Given the description of an element on the screen output the (x, y) to click on. 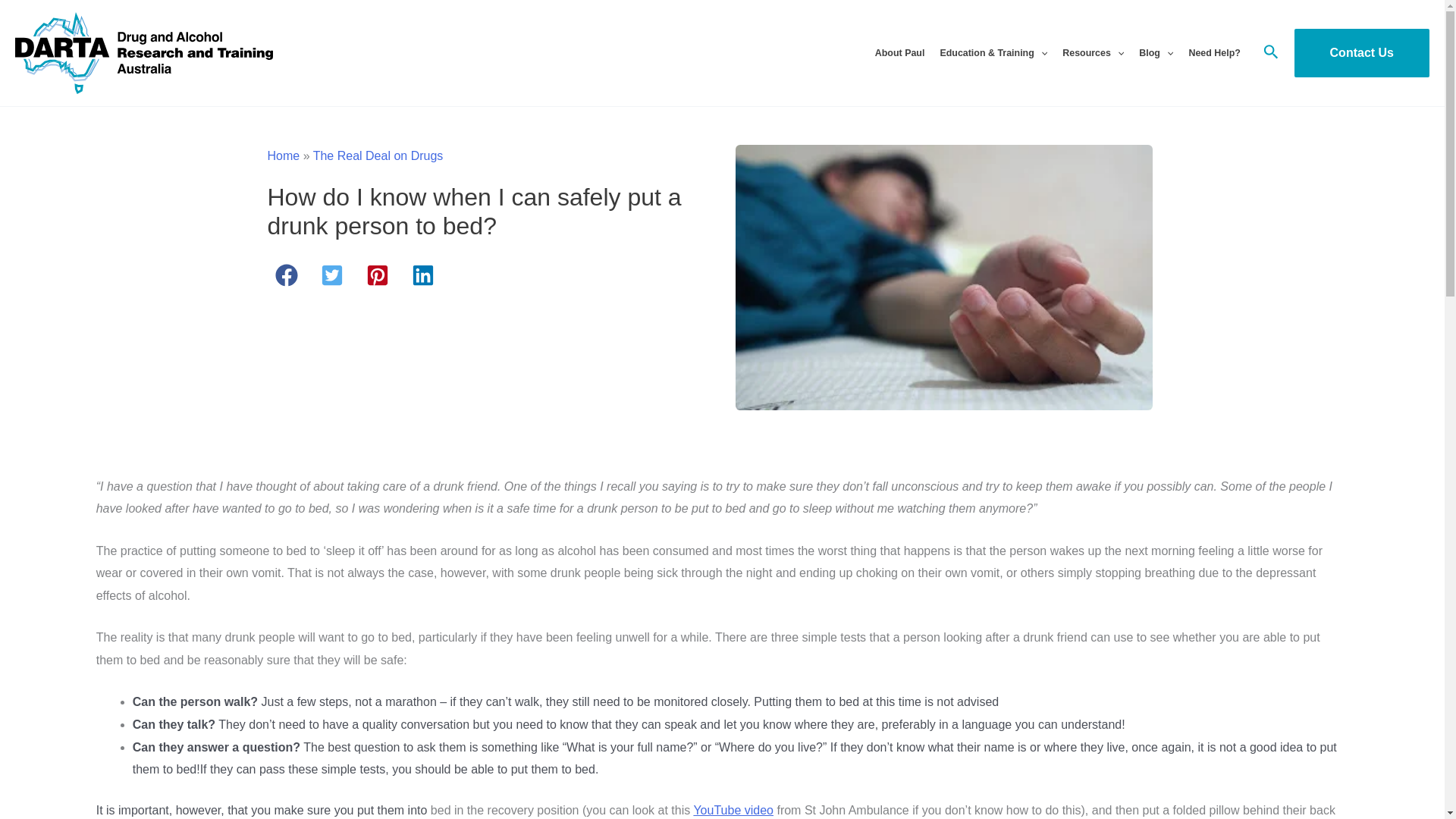
About Paul (900, 52)
Resources (1092, 52)
Blog (1155, 52)
Contact Us (1361, 52)
Need Help? (1213, 52)
